Given the description of an element on the screen output the (x, y) to click on. 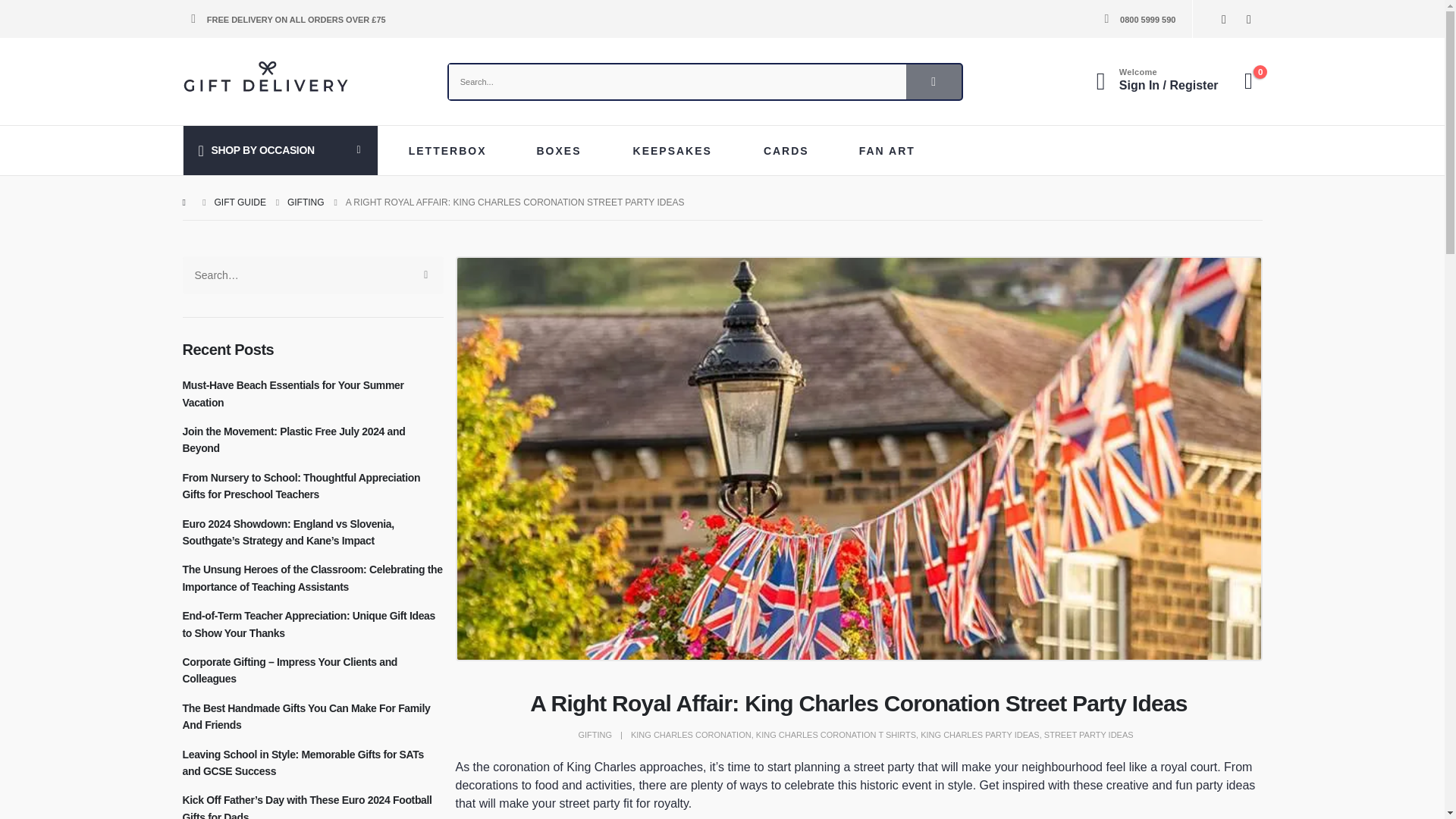
BOXES (563, 150)
Gift Delivery UK - Send the perfect gift online today (265, 77)
Facebook (1223, 18)
Instagram (1248, 18)
Search (932, 81)
KEEPSAKES (676, 150)
LETTERBOX (452, 150)
CARDS (791, 150)
